Given the description of an element on the screen output the (x, y) to click on. 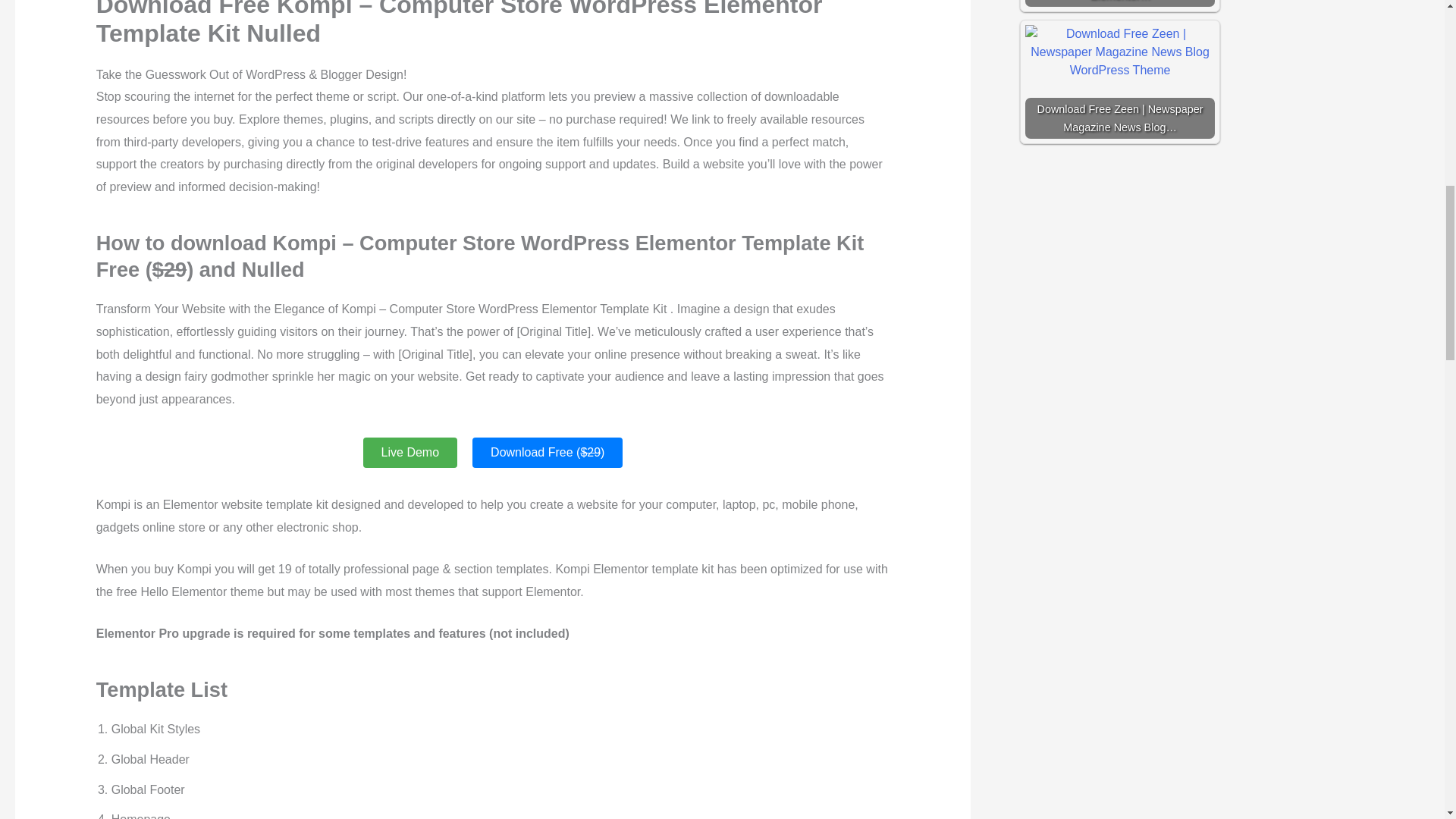
Live Demo (409, 452)
